Given the description of an element on the screen output the (x, y) to click on. 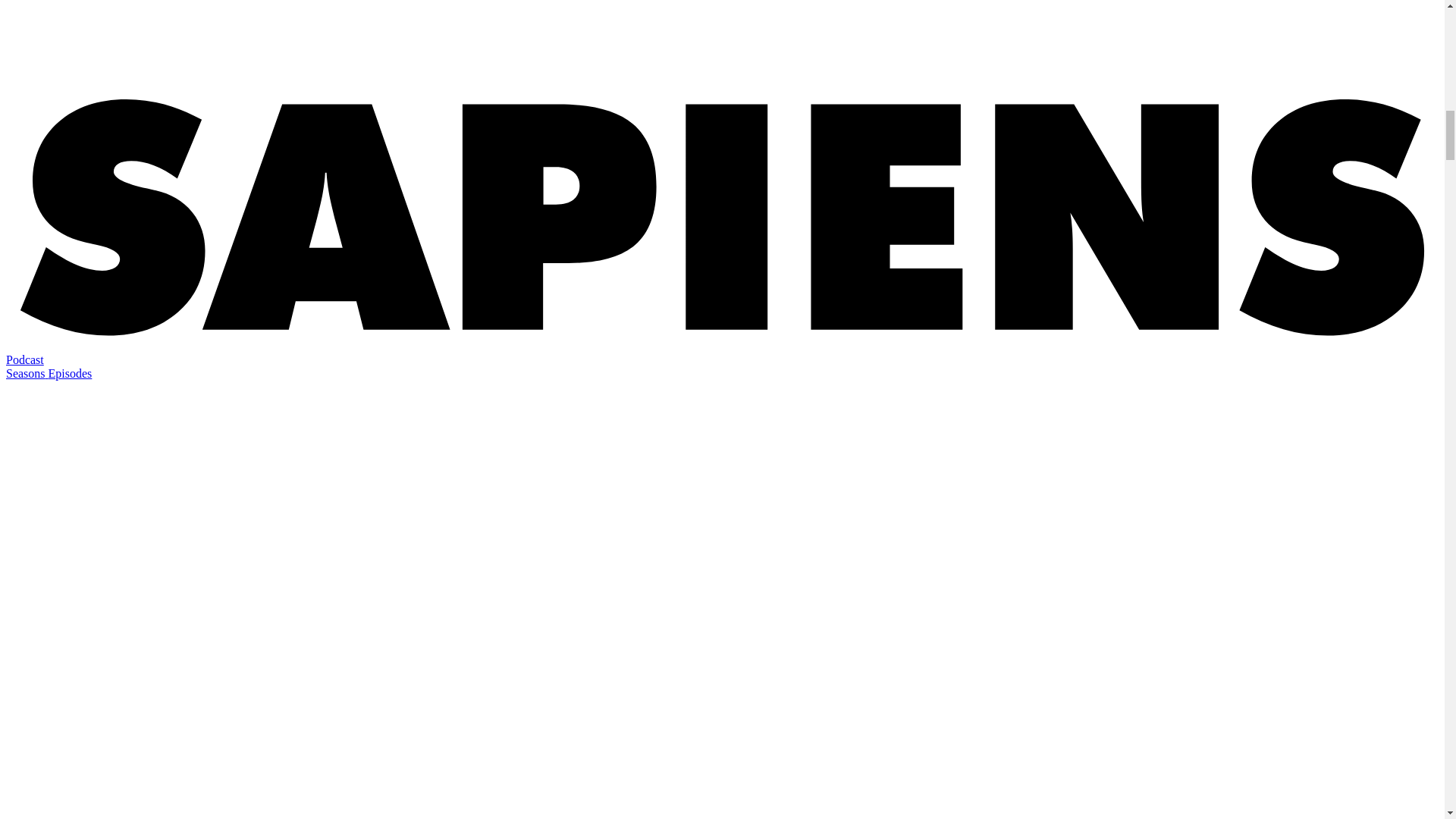
Episodes (70, 373)
Seasons (26, 373)
